Given the description of an element on the screen output the (x, y) to click on. 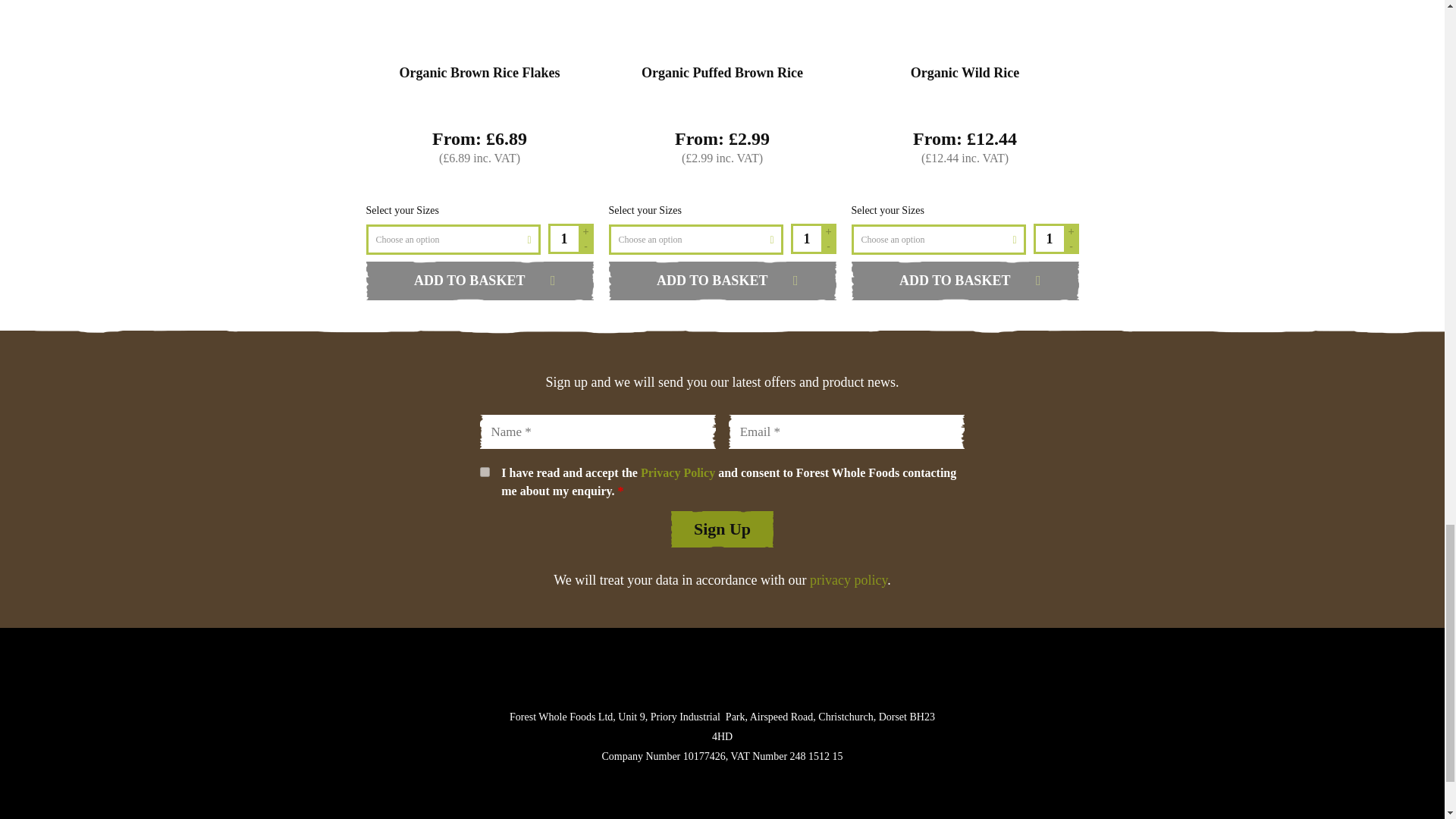
- (828, 246)
Qty (1047, 238)
Sign Up (722, 529)
- (585, 246)
Qty (805, 238)
1 (484, 471)
1 (805, 238)
1 (1047, 238)
- (1070, 246)
Qty (562, 238)
1 (562, 238)
